Given the description of an element on the screen output the (x, y) to click on. 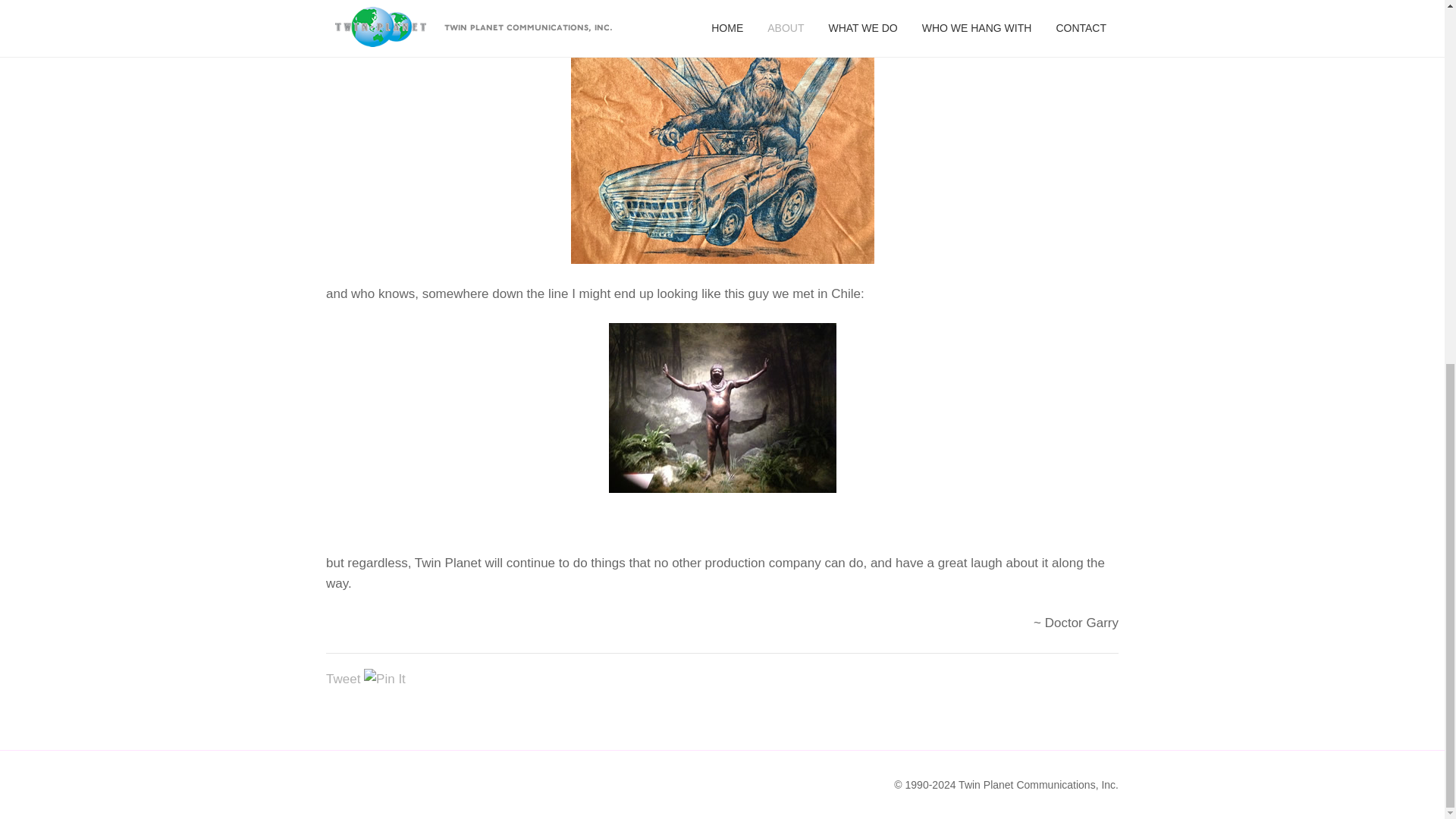
Tweet (342, 678)
Pin It (385, 679)
